Given the description of an element on the screen output the (x, y) to click on. 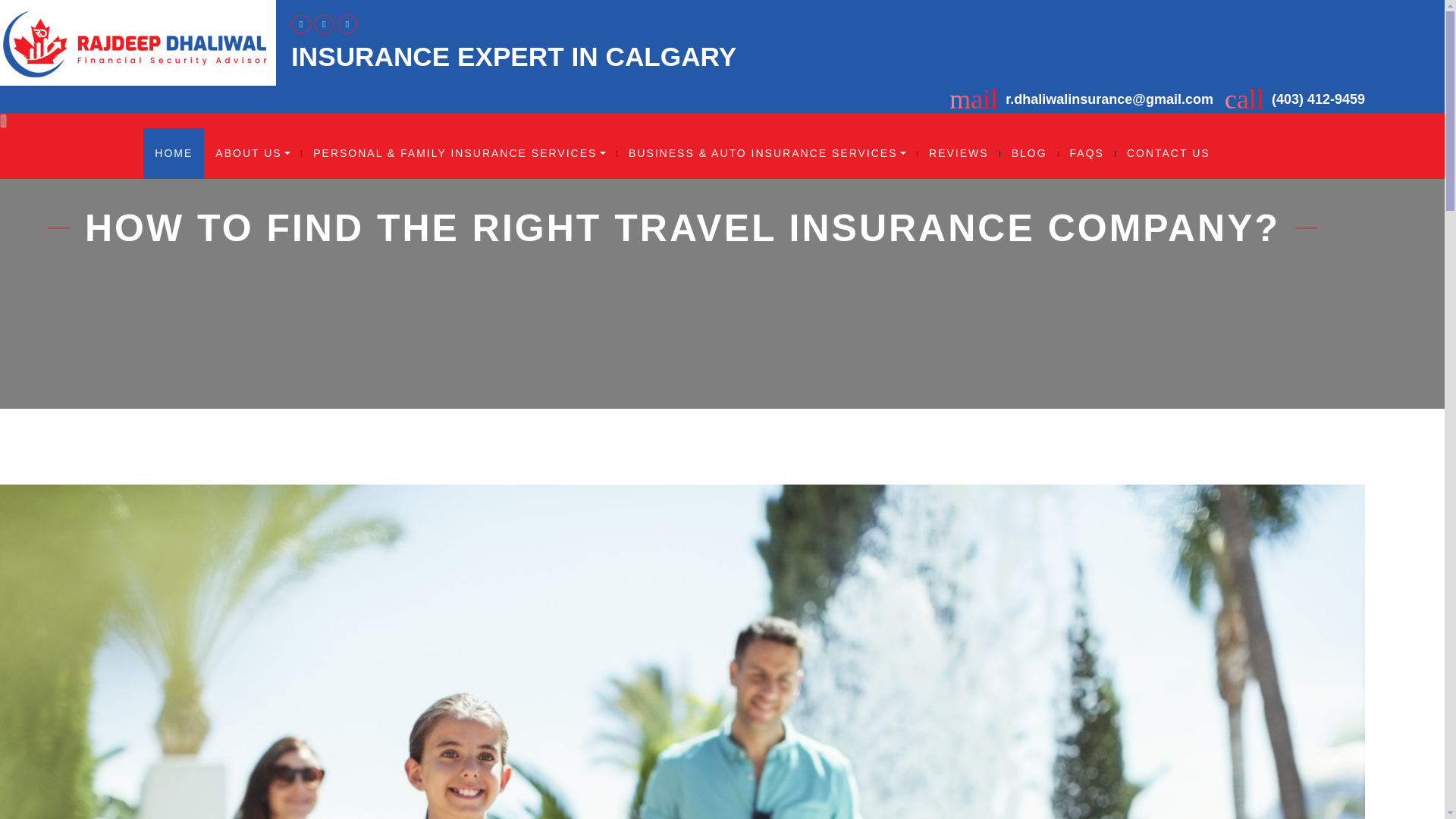
BLOG (1029, 153)
FAQS (1086, 153)
ABOUT US (252, 153)
CONTACT US (1168, 153)
REVIEWS (958, 153)
